Given the description of an element on the screen output the (x, y) to click on. 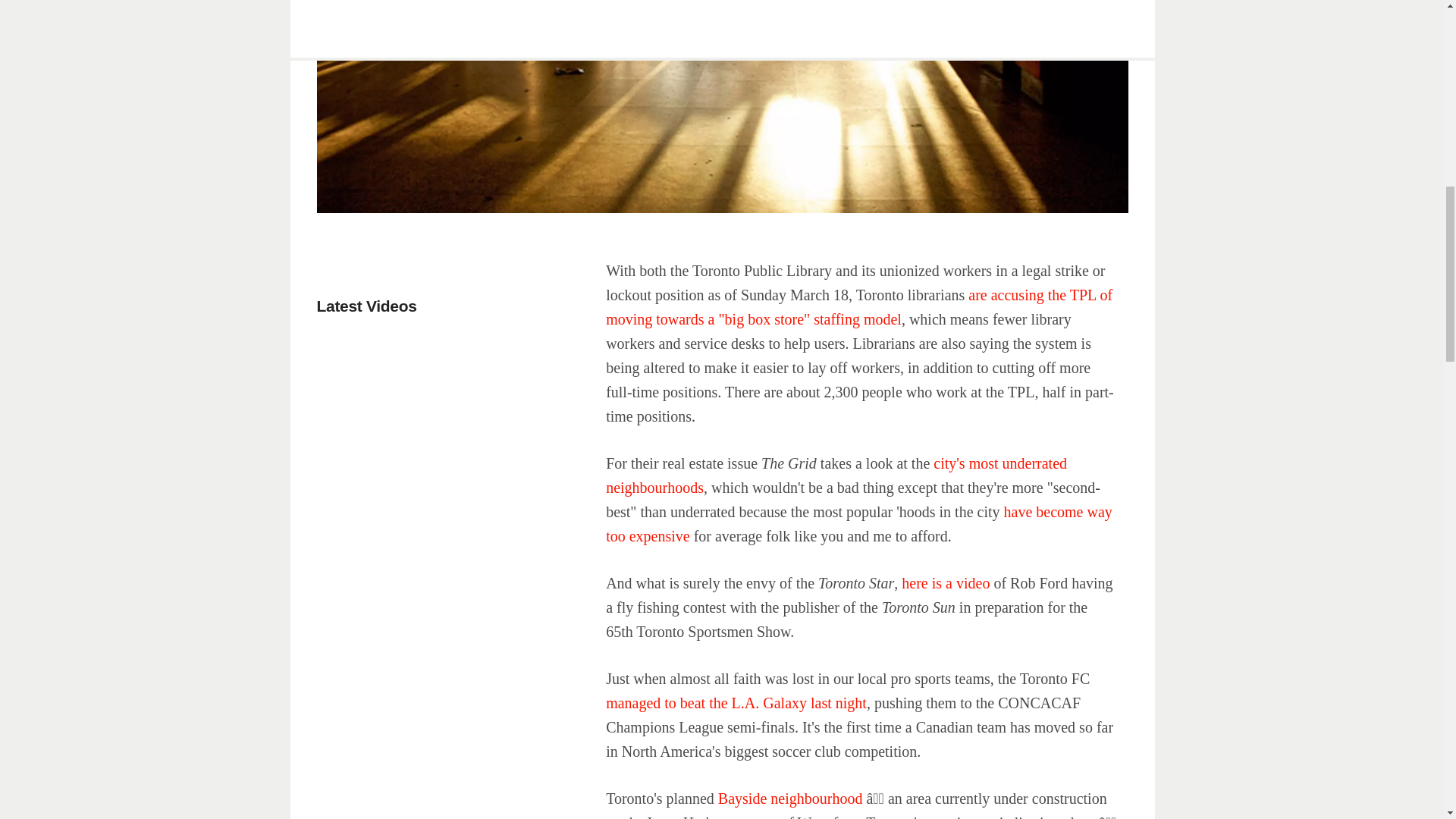
have become way too expensive (858, 523)
here is a video (946, 582)
Bayside neighbourhood (790, 798)
city's most underrated neighbourhoods (836, 475)
managed to beat the L.A. Galaxy last night (735, 702)
